Given the description of an element on the screen output the (x, y) to click on. 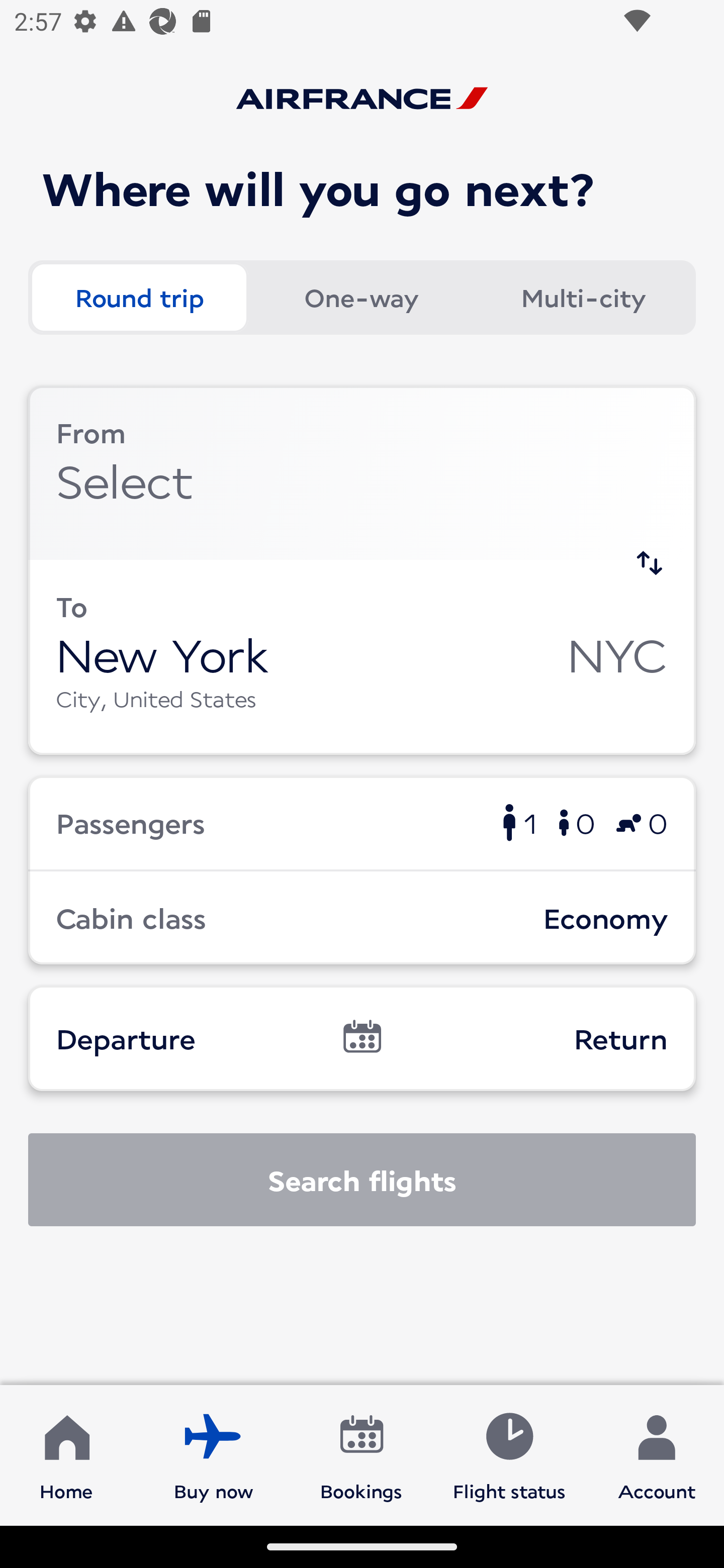
Round trip (139, 297)
One-way (361, 297)
Multi-city (583, 297)
From Select (361, 472)
To New York NYC City, United States (361, 656)
Passengers 1 0 0 (361, 822)
Cabin class Economy (361, 917)
Departure Return (361, 1038)
Search flights (361, 1179)
Home (66, 1454)
Bookings (361, 1454)
Flight status (509, 1454)
Account (657, 1454)
